Given the description of an element on the screen output the (x, y) to click on. 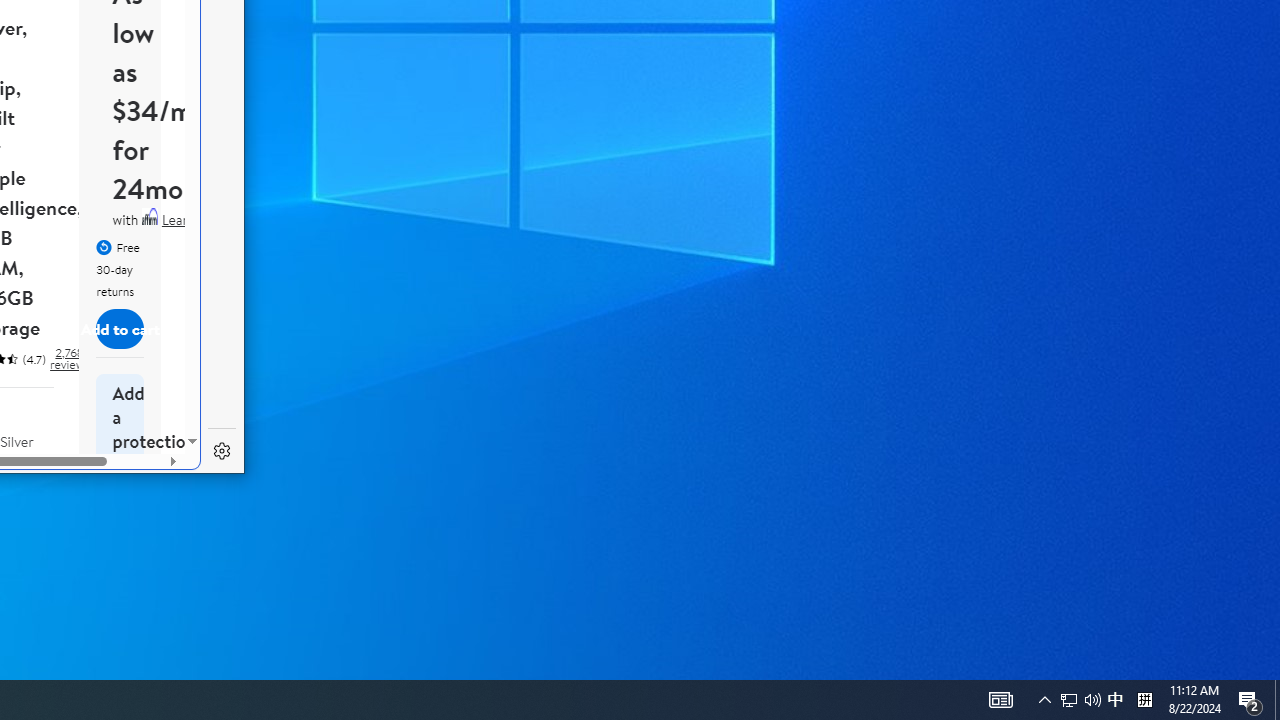
Affirm (149, 216)
User Promoted Notification Area (1069, 699)
AutomationID: 4105 (1080, 699)
2,768 reviews (1000, 699)
Silver (67, 358)
Q2790: 100% (1115, 699)
Notification Chevron (28, 483)
Action Center, 2 new notifications (1092, 699)
Show desktop (1044, 699)
Free 30-day returns (1250, 699)
